Given the description of an element on the screen output the (x, y) to click on. 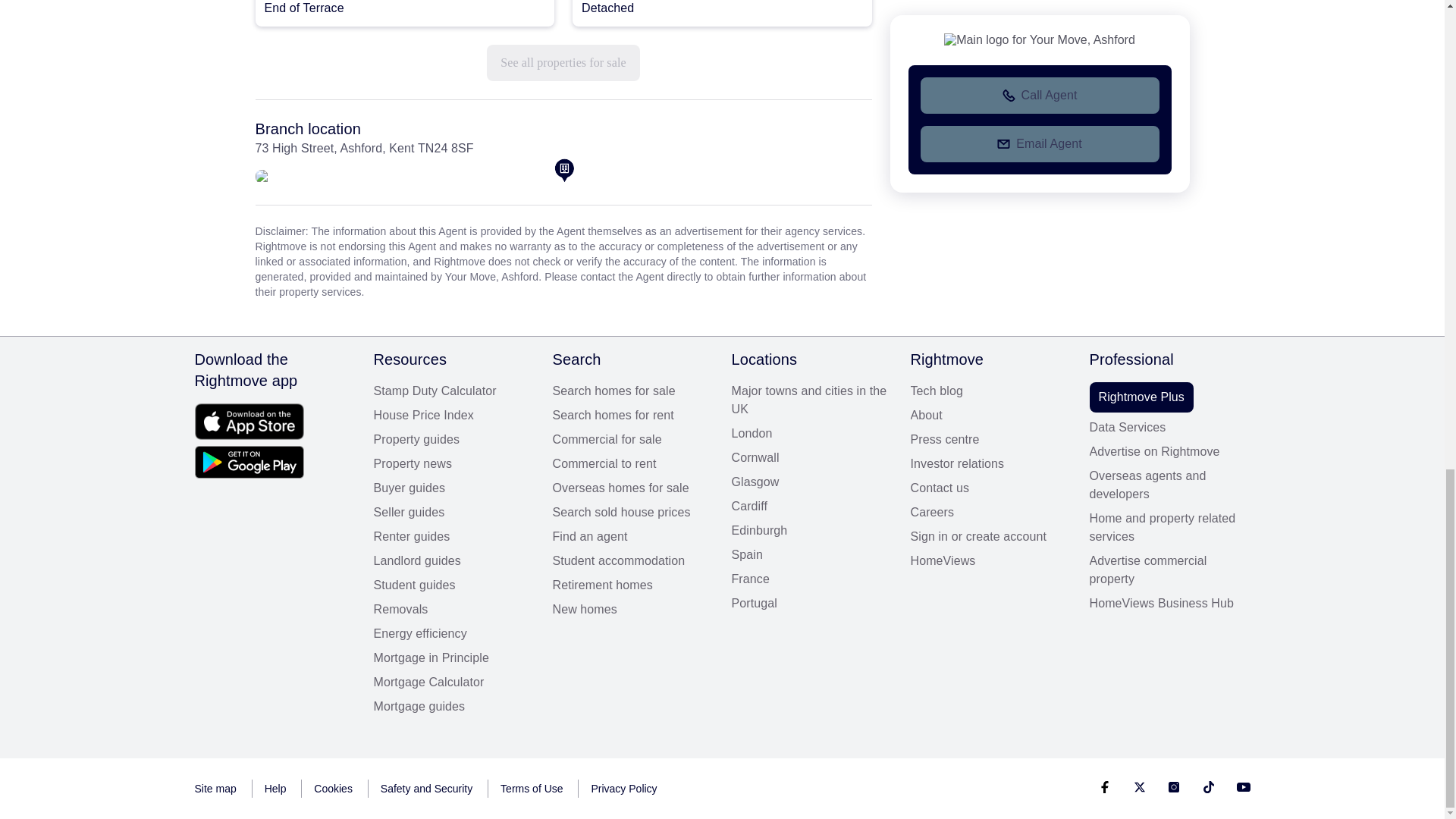
Seller guides (453, 512)
Energy efficiency (453, 633)
Stamp duty calculator (453, 391)
Renter guides (453, 536)
Commercial to rent (632, 464)
Mortgage in Principle (453, 658)
House price index (453, 415)
Landlord guides (453, 561)
Student guides (453, 585)
Mortgage guides (453, 706)
